Given the description of an element on the screen output the (x, y) to click on. 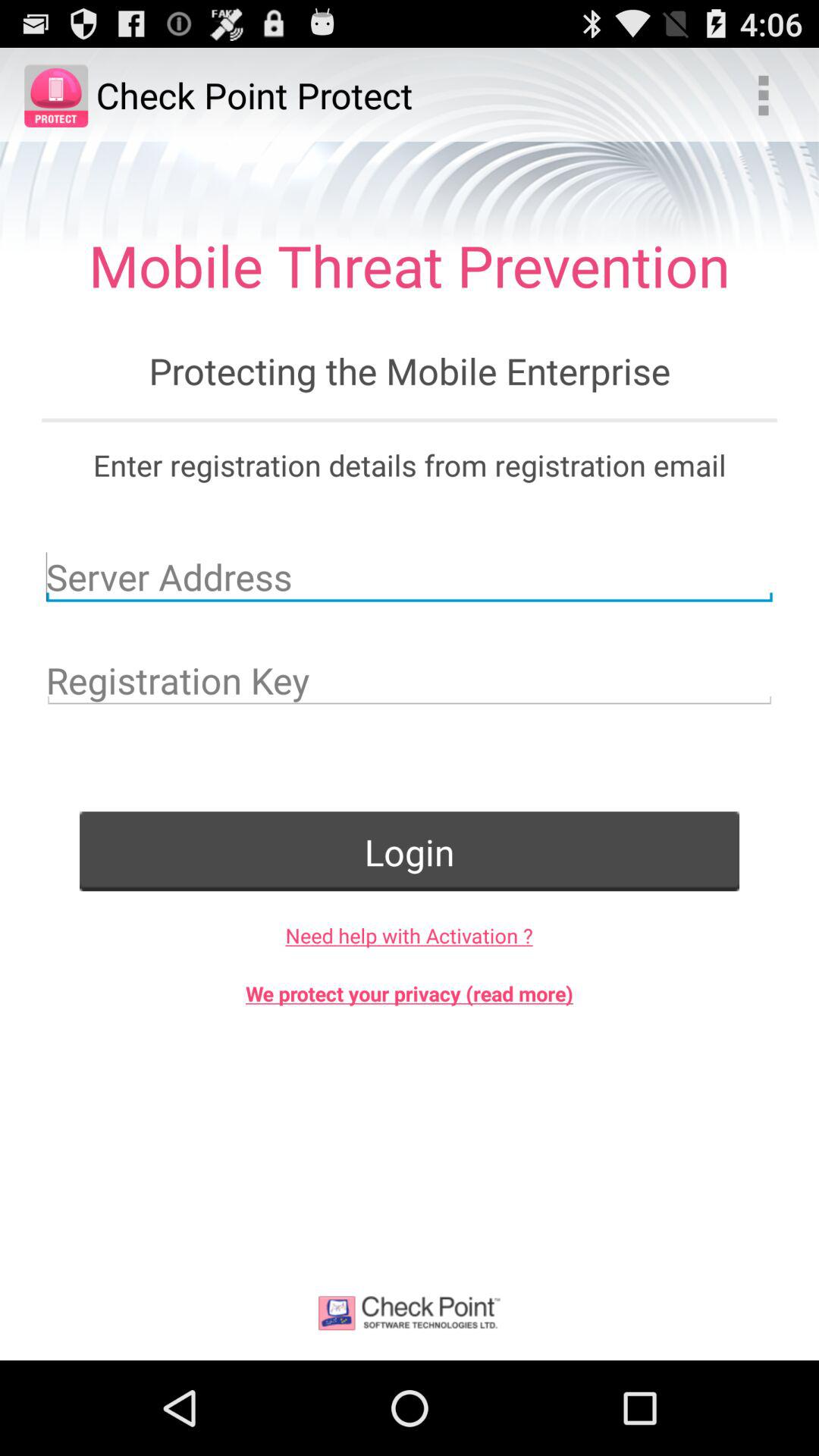
enter key (409, 680)
